Given the description of an element on the screen output the (x, y) to click on. 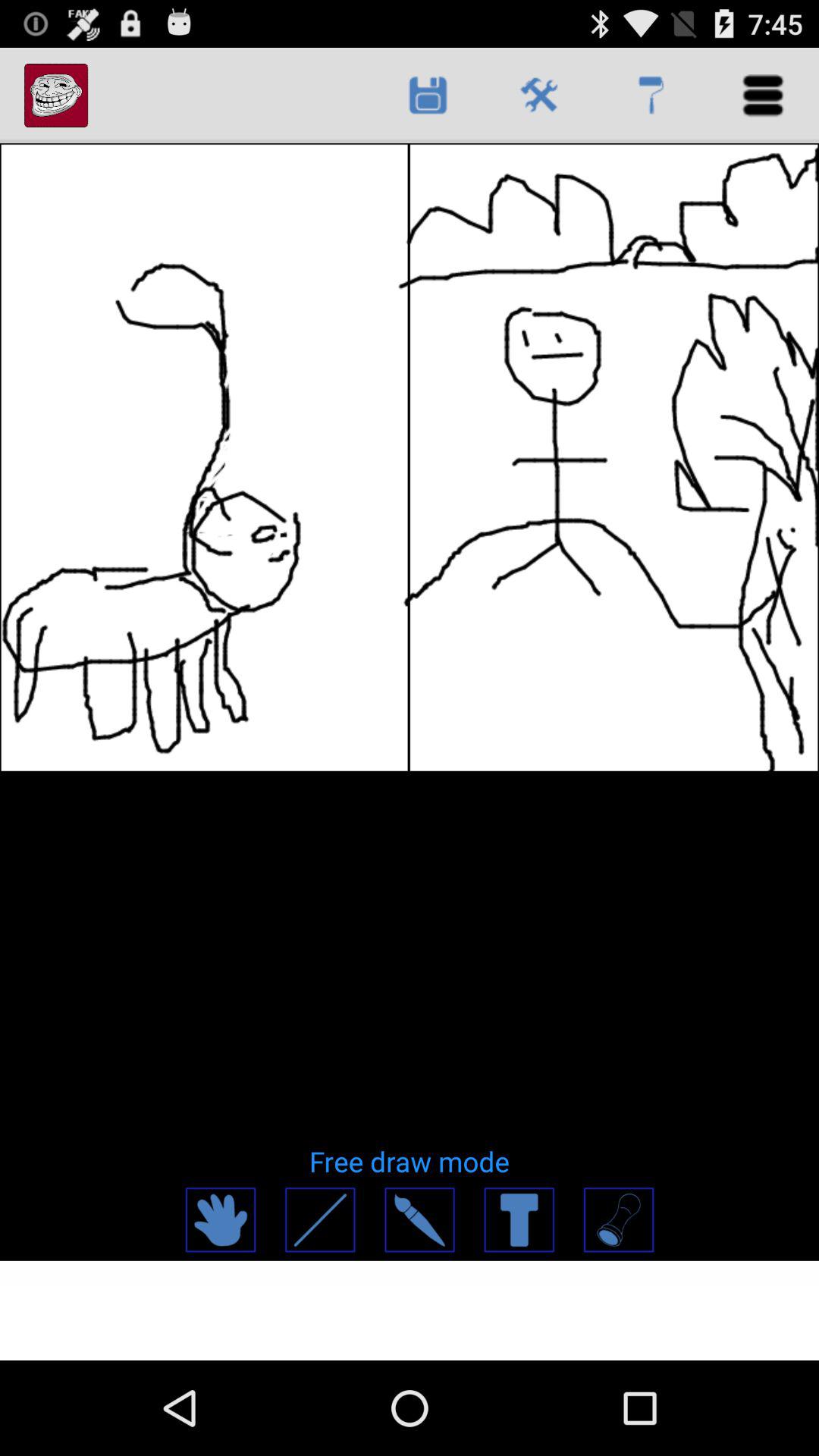
line option (319, 1219)
